Given the description of an element on the screen output the (x, y) to click on. 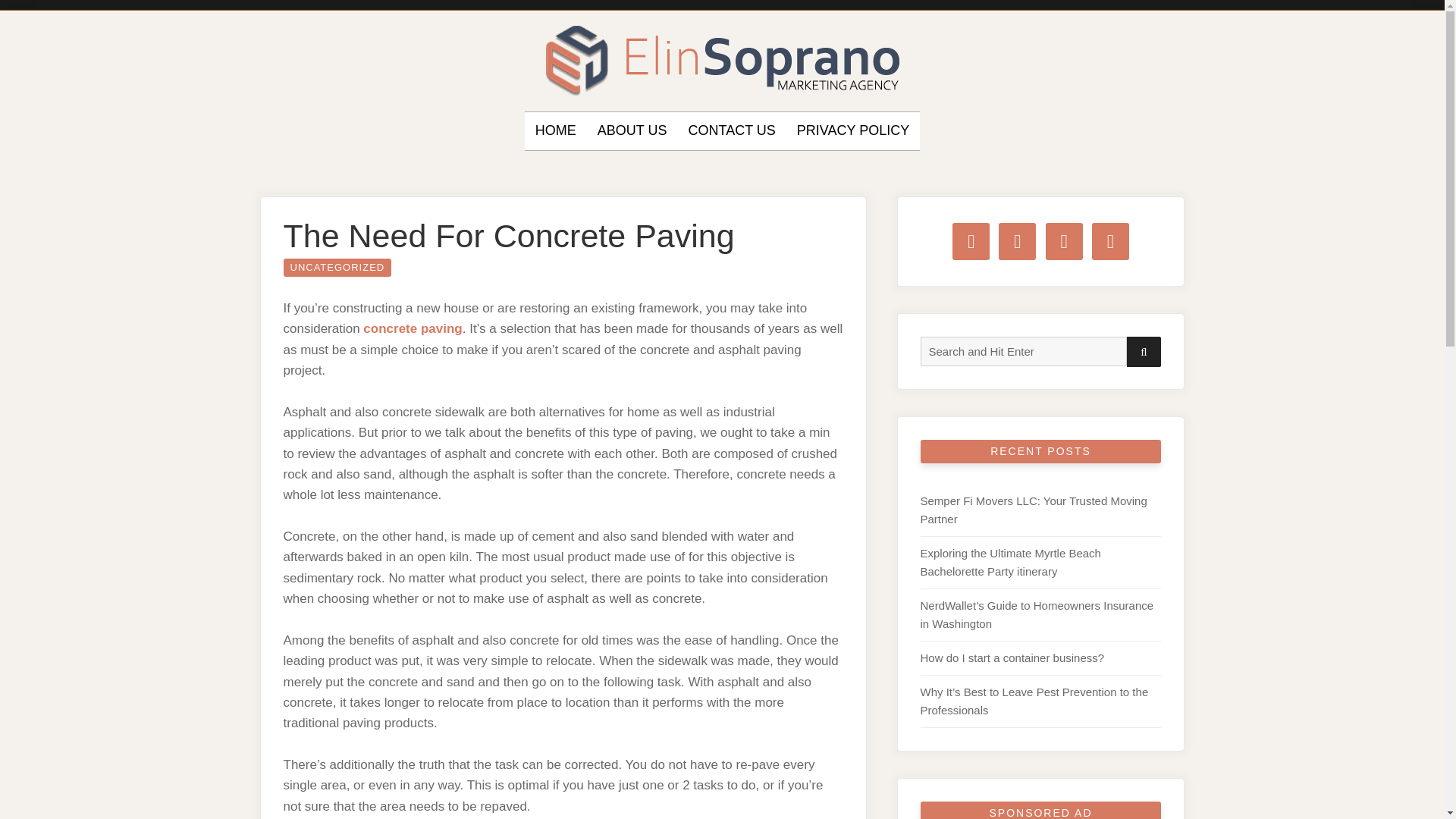
UNCATEGORIZED (337, 267)
youtube (1110, 239)
ABOUT US (631, 130)
Instagram (1064, 239)
instagram (1064, 239)
Facebook (971, 239)
CONTACT US (730, 130)
PRIVACY POLICY (852, 130)
Semper Fi Movers LLC: Your Trusted Moving Partner (1033, 509)
twitter (1016, 239)
SEARCH (1143, 351)
concrete paving (411, 328)
How do I start a container business? (1012, 657)
Twitter (1016, 239)
